Given the description of an element on the screen output the (x, y) to click on. 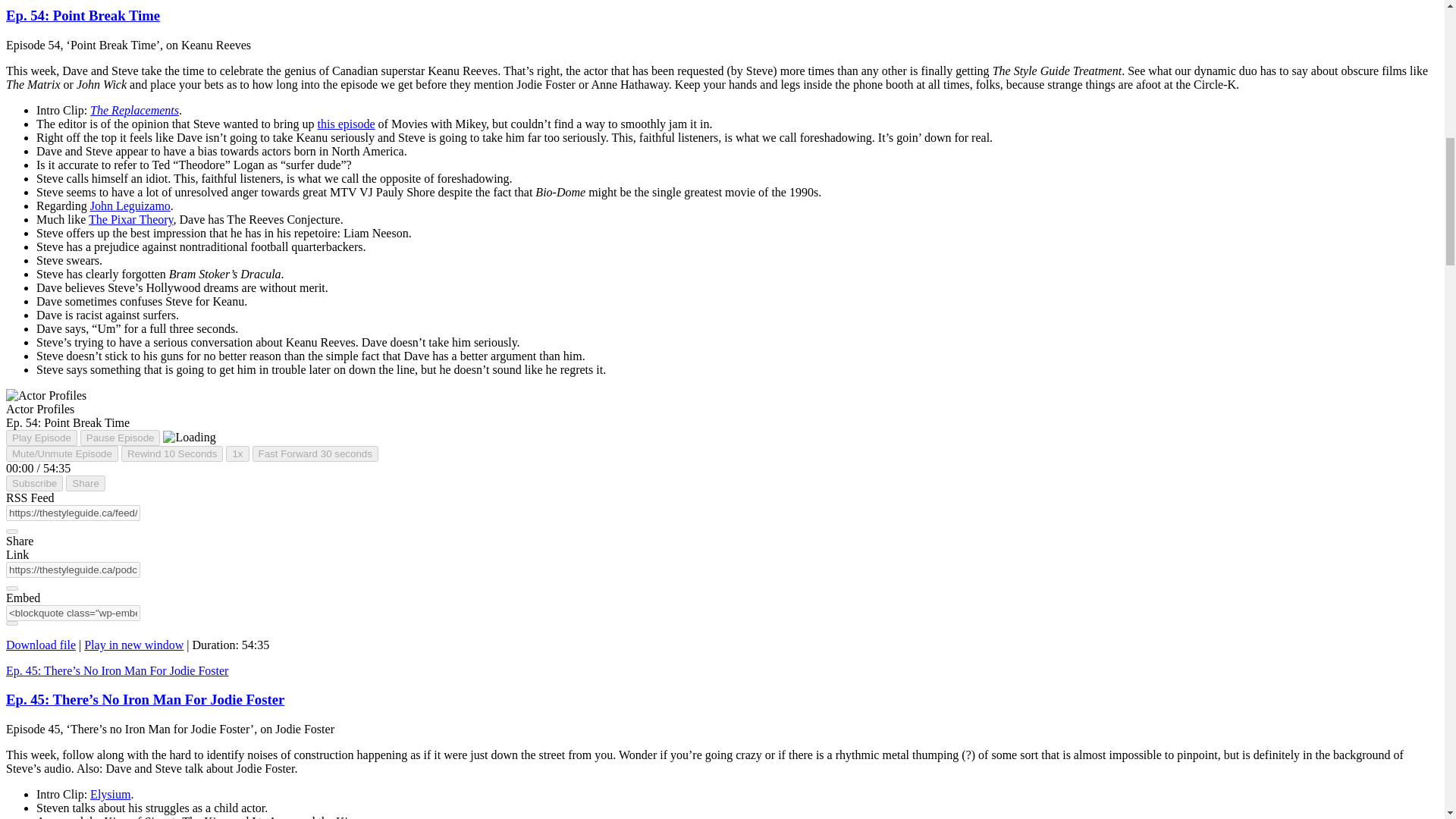
John Leguizamo (130, 205)
The Pixar Theory (130, 219)
Pause Episode (120, 437)
Play Episode (41, 437)
The Replacements (134, 110)
Rewind 10 Seconds (172, 453)
Fast Forward 30 seconds (314, 453)
Ep. 54: Point Break Time (82, 15)
this episode (346, 123)
Subscribe (33, 483)
